Given the description of an element on the screen output the (x, y) to click on. 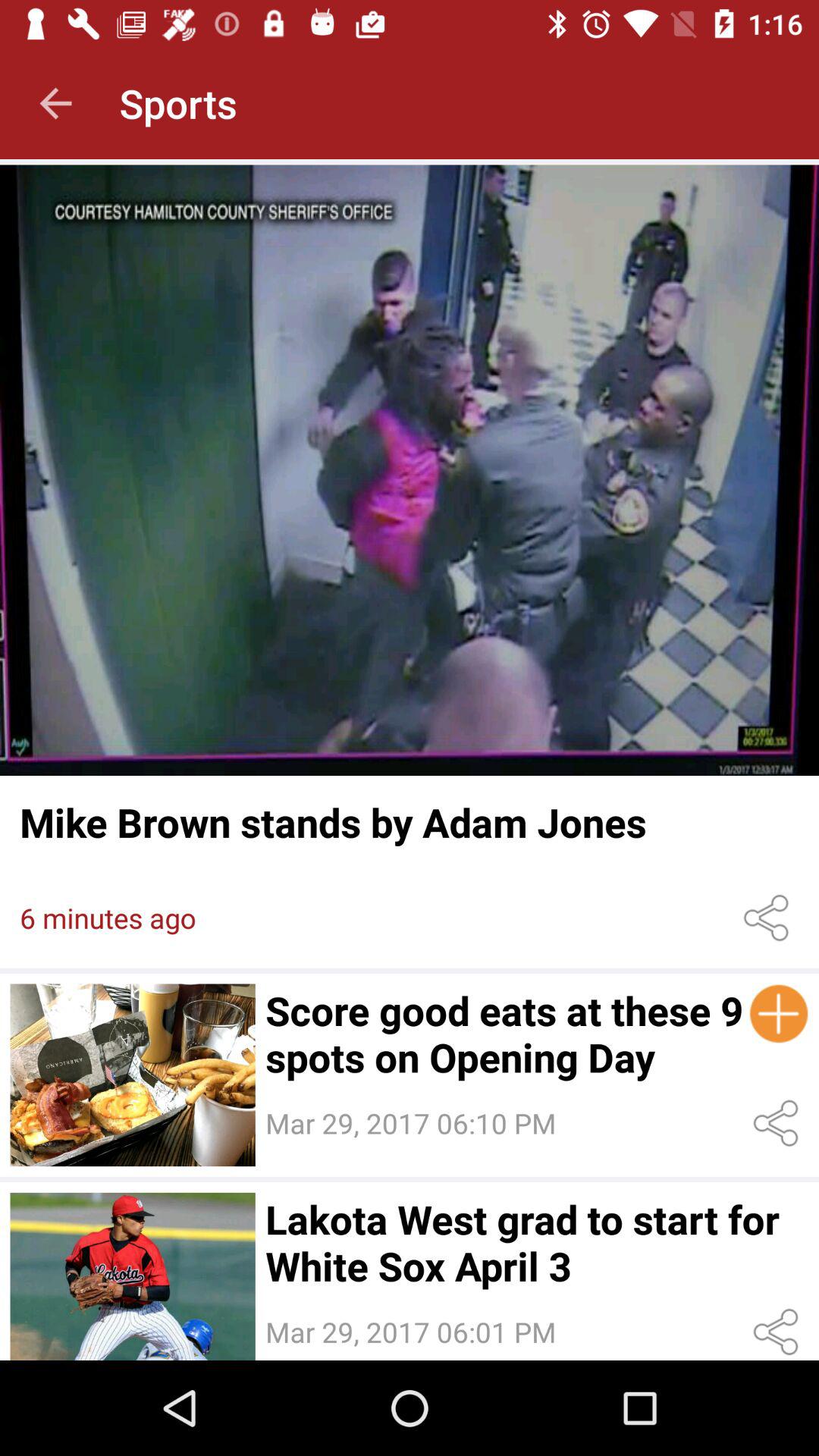
share this (769, 918)
